Given the description of an element on the screen output the (x, y) to click on. 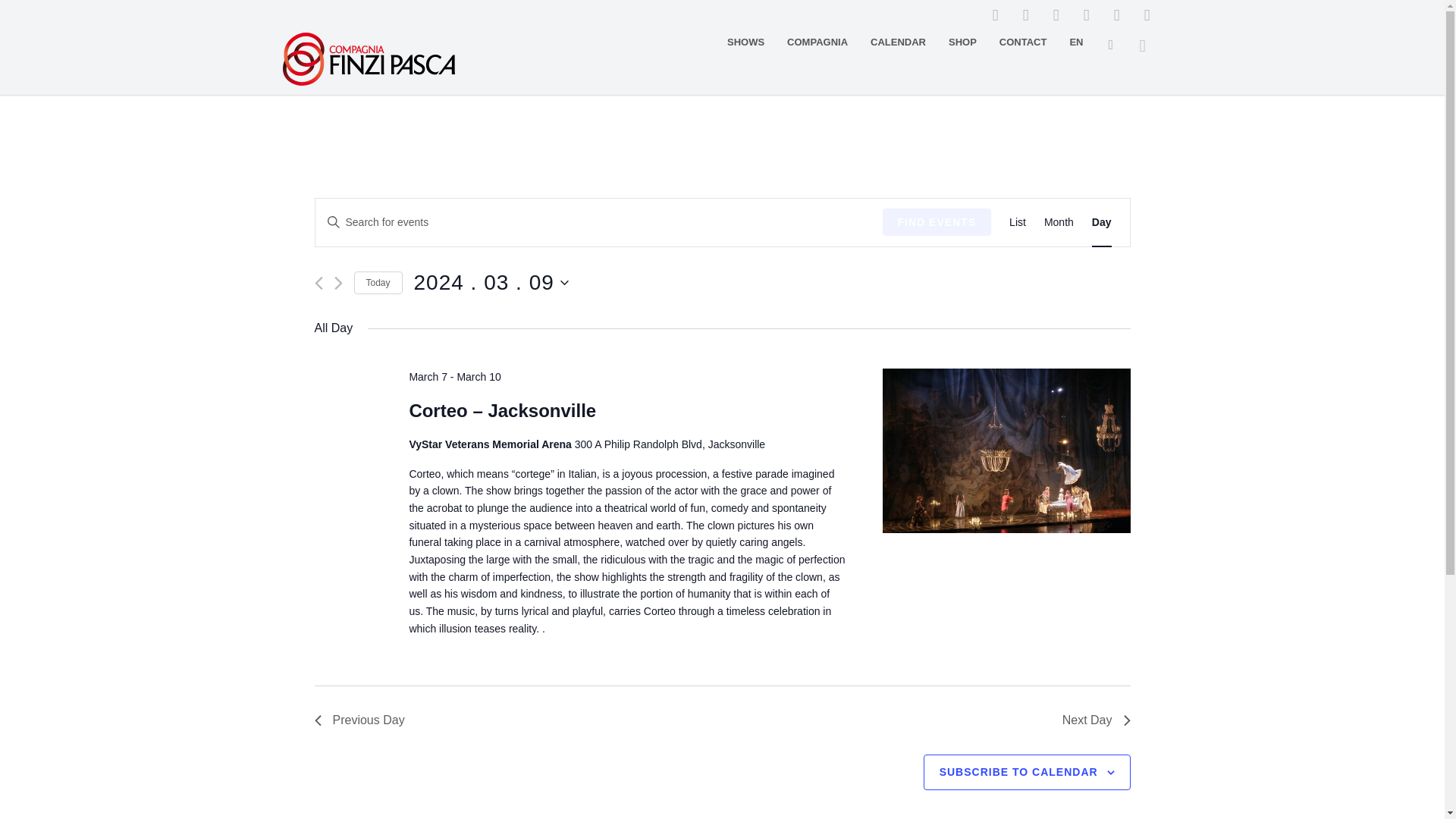
Click to toggle datepicker (491, 282)
COMPAGNIA (817, 42)
CONTACT (1023, 42)
EN (1076, 42)
Twitter (1085, 15)
Click to select today's date (377, 282)
CALENDAR (898, 42)
SHOP (962, 42)
Facebook (994, 15)
Vimeo (1115, 15)
Next Day (1096, 720)
Previous Day (359, 720)
YouTube (1146, 15)
RSS (1055, 15)
